Given the description of an element on the screen output the (x, y) to click on. 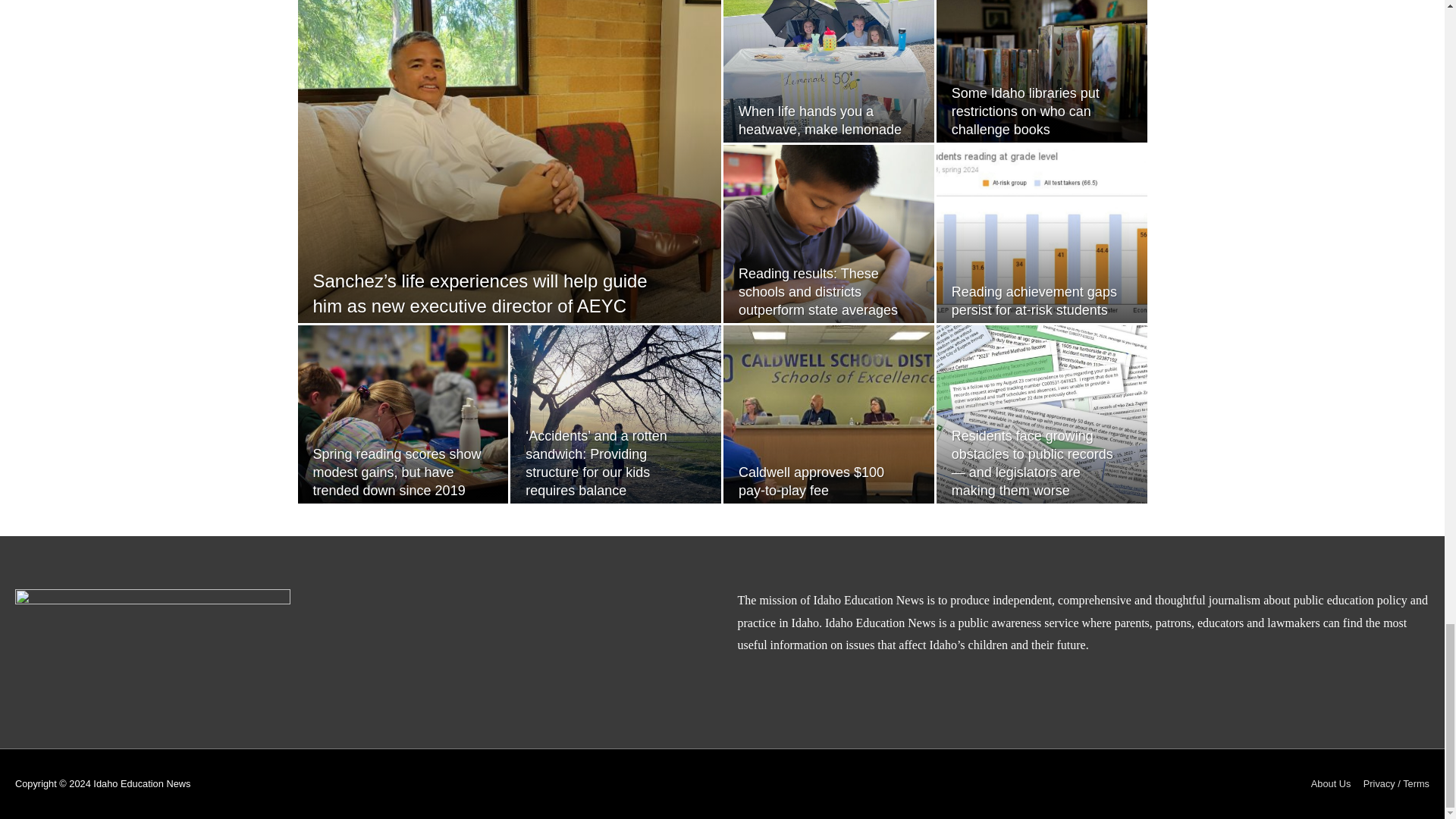
Reading achievement gaps persist for at-risk students (1034, 300)
When life hands you a heatwave, make lemonade (819, 120)
